Given the description of an element on the screen output the (x, y) to click on. 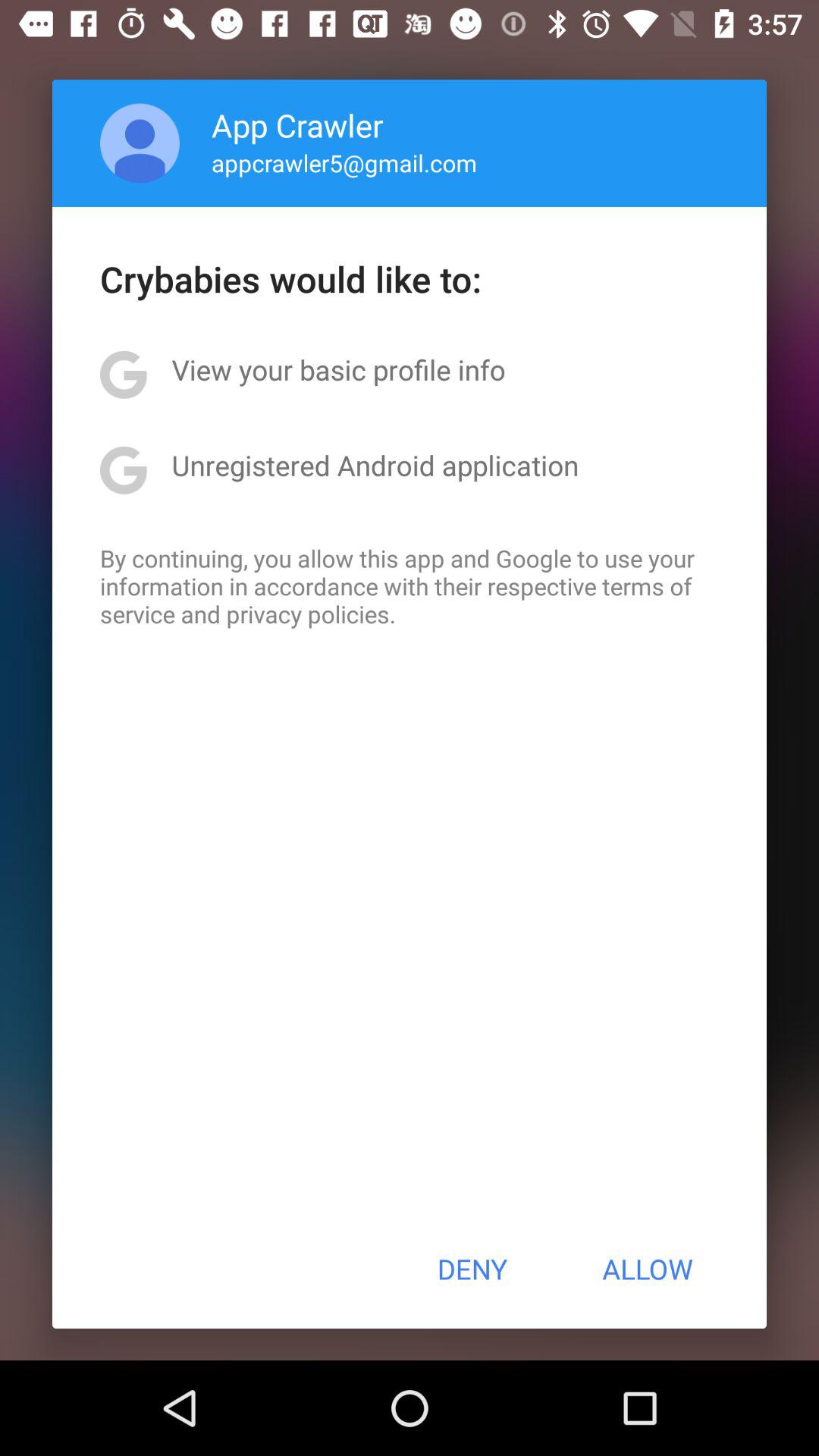
open the app crawler item (297, 124)
